Given the description of an element on the screen output the (x, y) to click on. 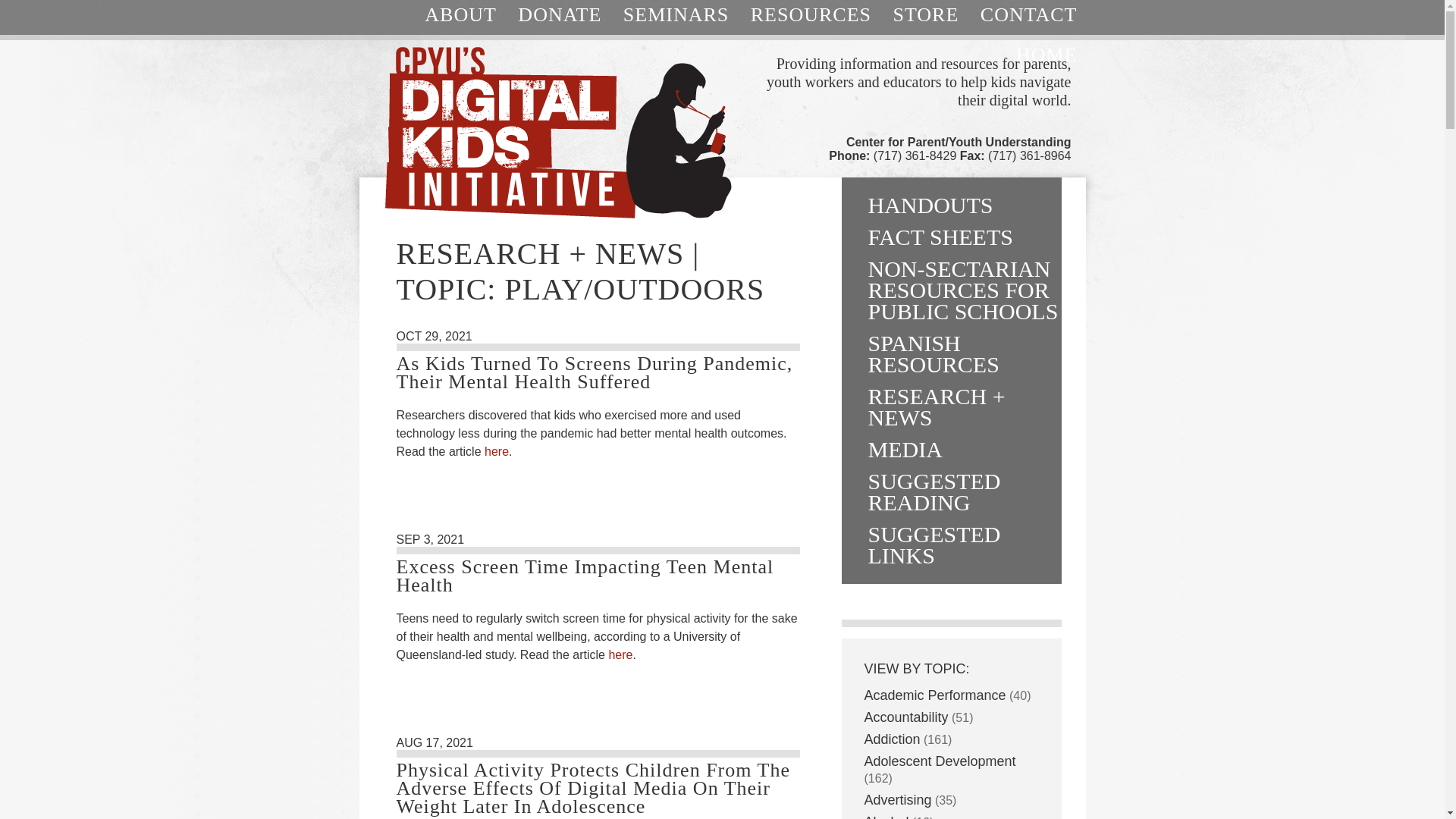
FACT SHEETS (951, 237)
Academic Performance (935, 694)
here (496, 451)
SUGGESTED LINKS (951, 544)
SEMINARS (676, 20)
here (619, 654)
STORE (925, 20)
CONTACT (1028, 20)
RESOURCES (810, 20)
DONATE (559, 20)
